Given the description of an element on the screen output the (x, y) to click on. 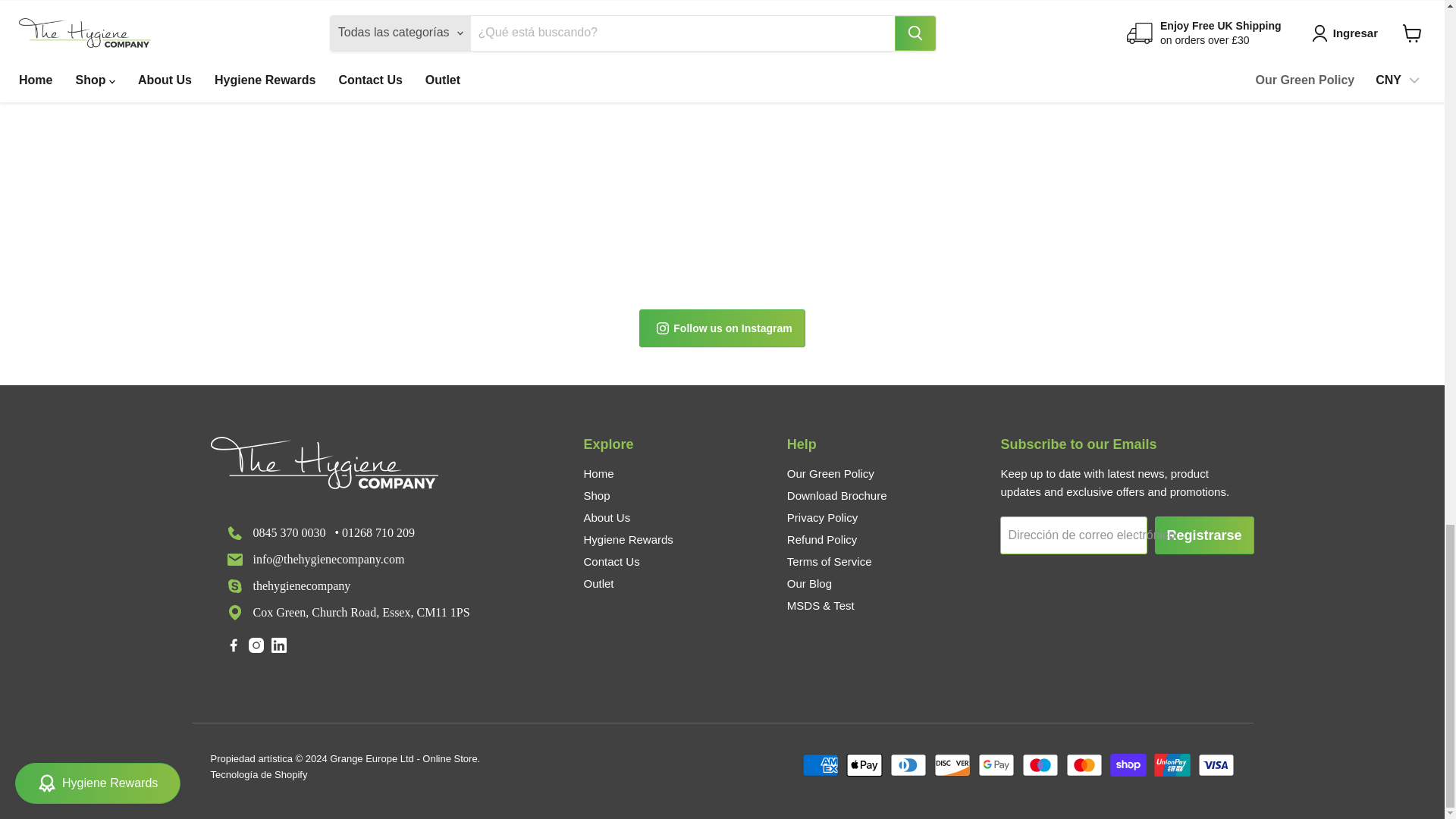
Apple Pay (863, 764)
Discover (952, 764)
Maestro (1040, 764)
Google Pay (996, 764)
American Express (820, 764)
Diners Club (907, 764)
